Given the description of an element on the screen output the (x, y) to click on. 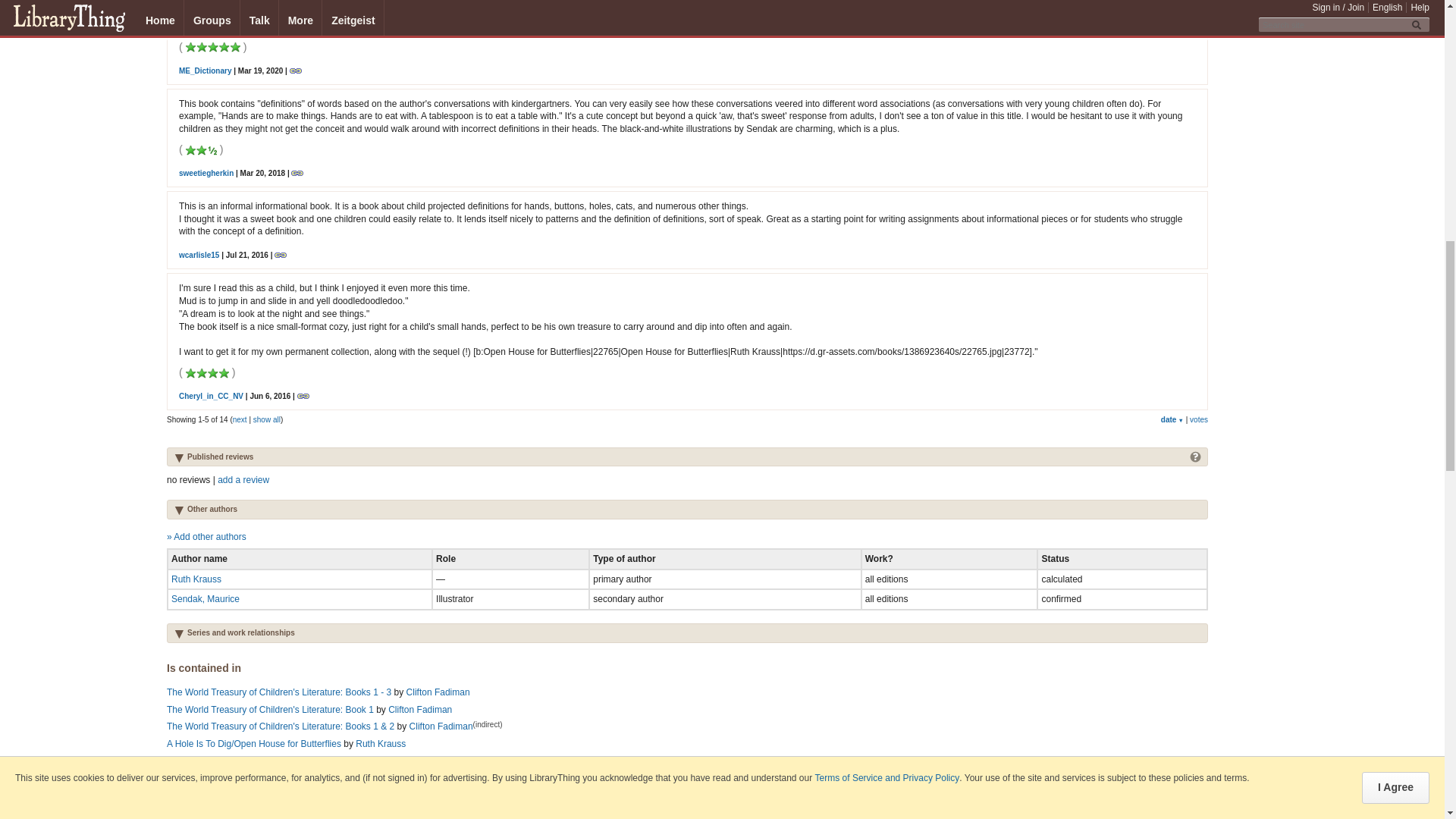
Help (1195, 456)
